Given the description of an element on the screen output the (x, y) to click on. 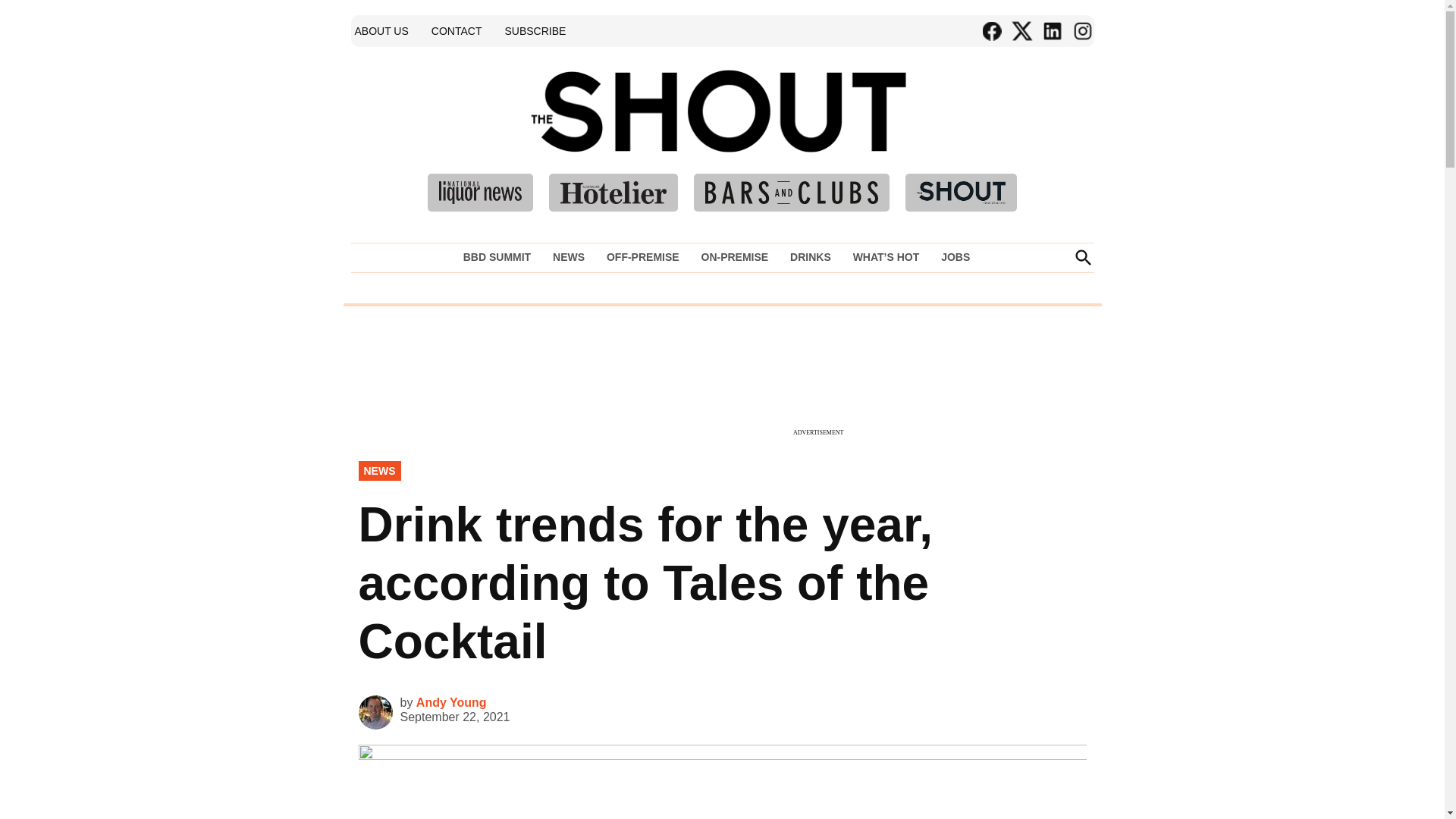
The Shout (939, 133)
NEWS (568, 256)
Linkedin (1051, 31)
OFF-PREMISE (642, 256)
Facebook (991, 31)
SUBSCRIBE (534, 30)
ABOUT US (381, 30)
BBD SUMMIT (500, 256)
Instagram (1081, 31)
ON-PREMISE (734, 256)
Twitter (1021, 31)
CONTACT (457, 30)
